Given the description of an element on the screen output the (x, y) to click on. 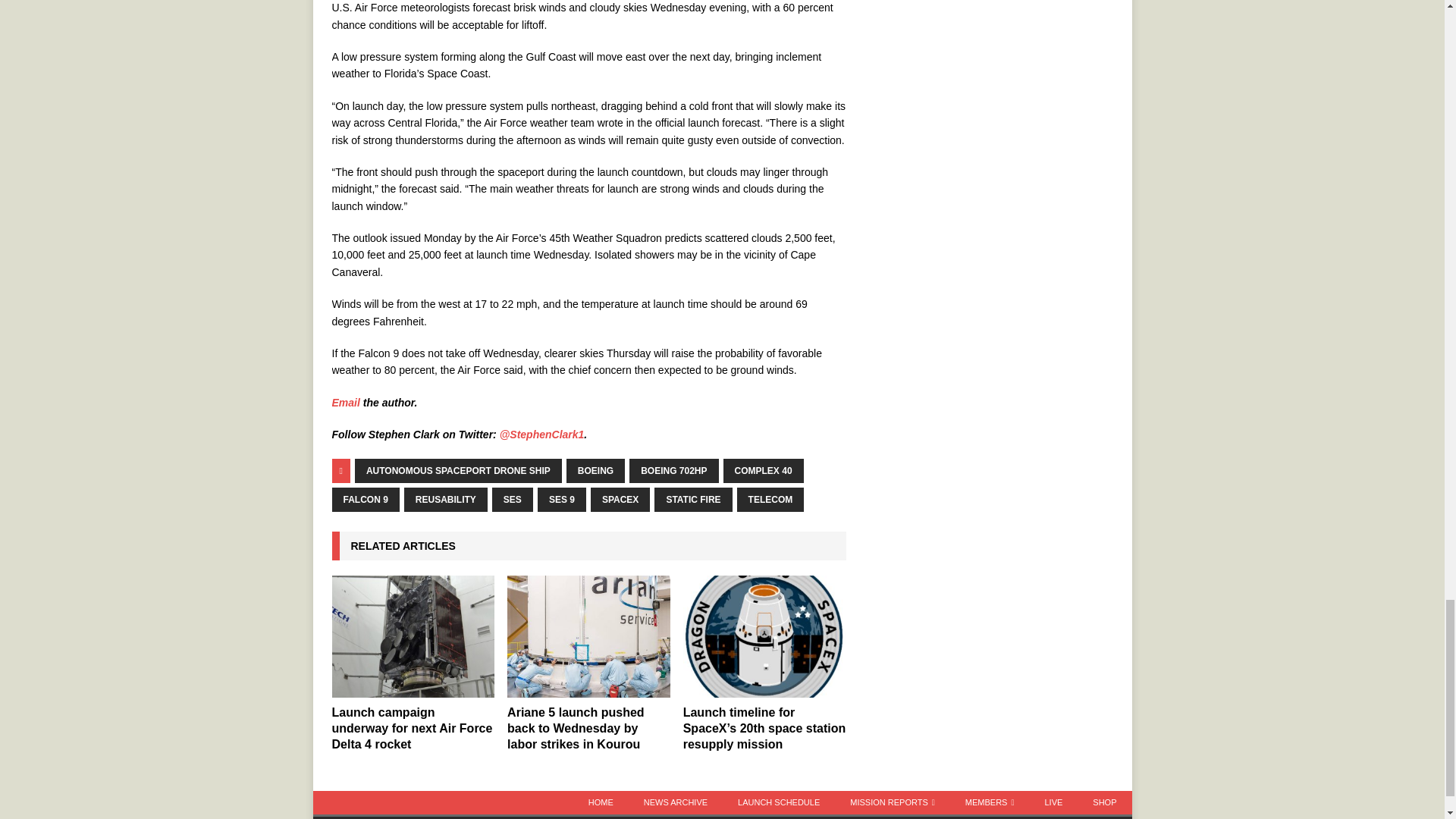
Launch campaign underway for next Air Force Delta 4 rocket (413, 636)
Launch campaign underway for next Air Force Delta 4 rocket (412, 728)
